Given the description of an element on the screen output the (x, y) to click on. 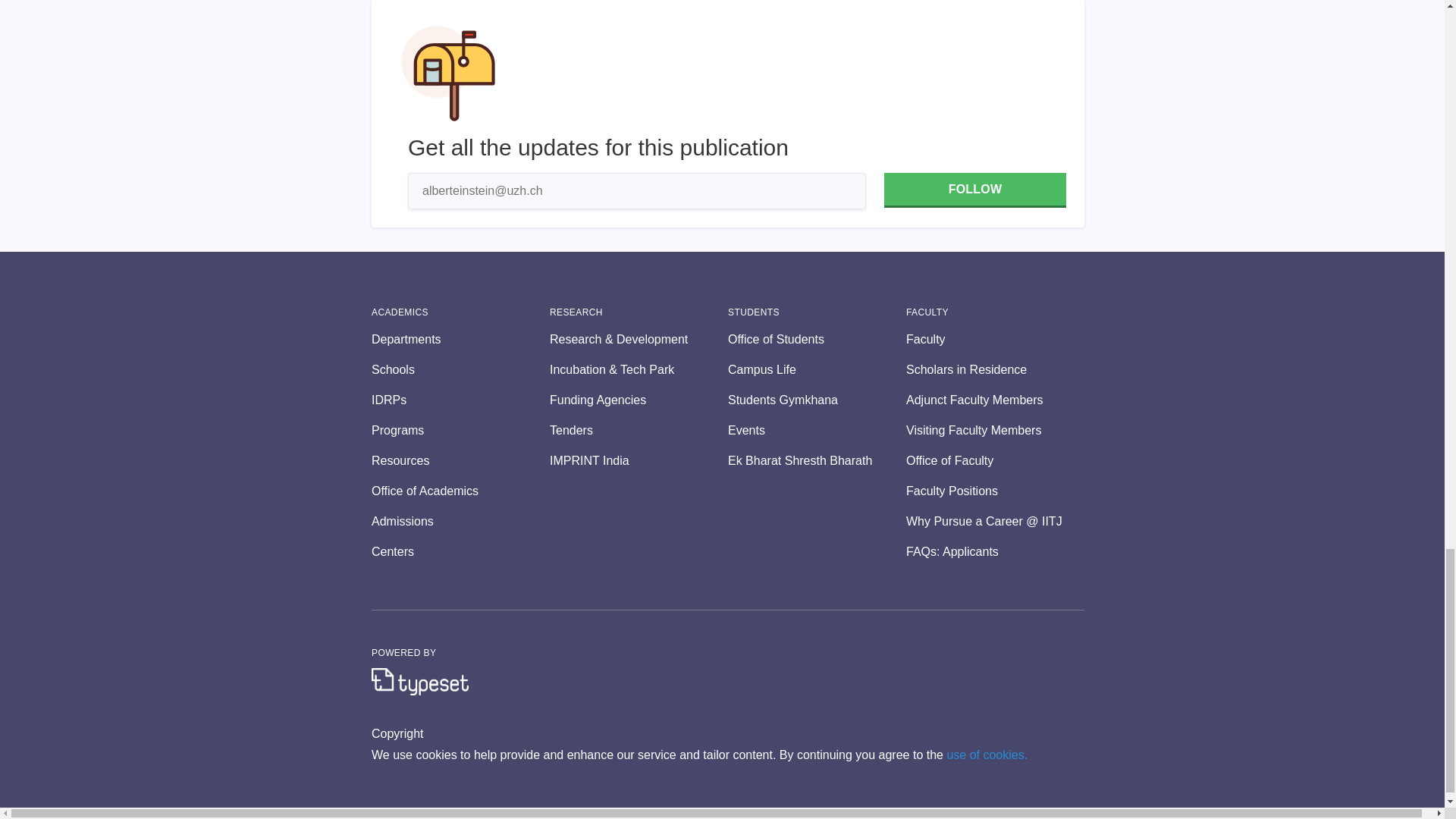
Office of Academics (460, 491)
Departments (460, 339)
IDRPs (460, 400)
Programs (460, 430)
Resources (460, 461)
FOLLOW (974, 190)
Logo of Typeset (419, 681)
Subscribe form hero illustration (448, 73)
Admissions (460, 521)
Schools (460, 370)
